Given the description of an element on the screen output the (x, y) to click on. 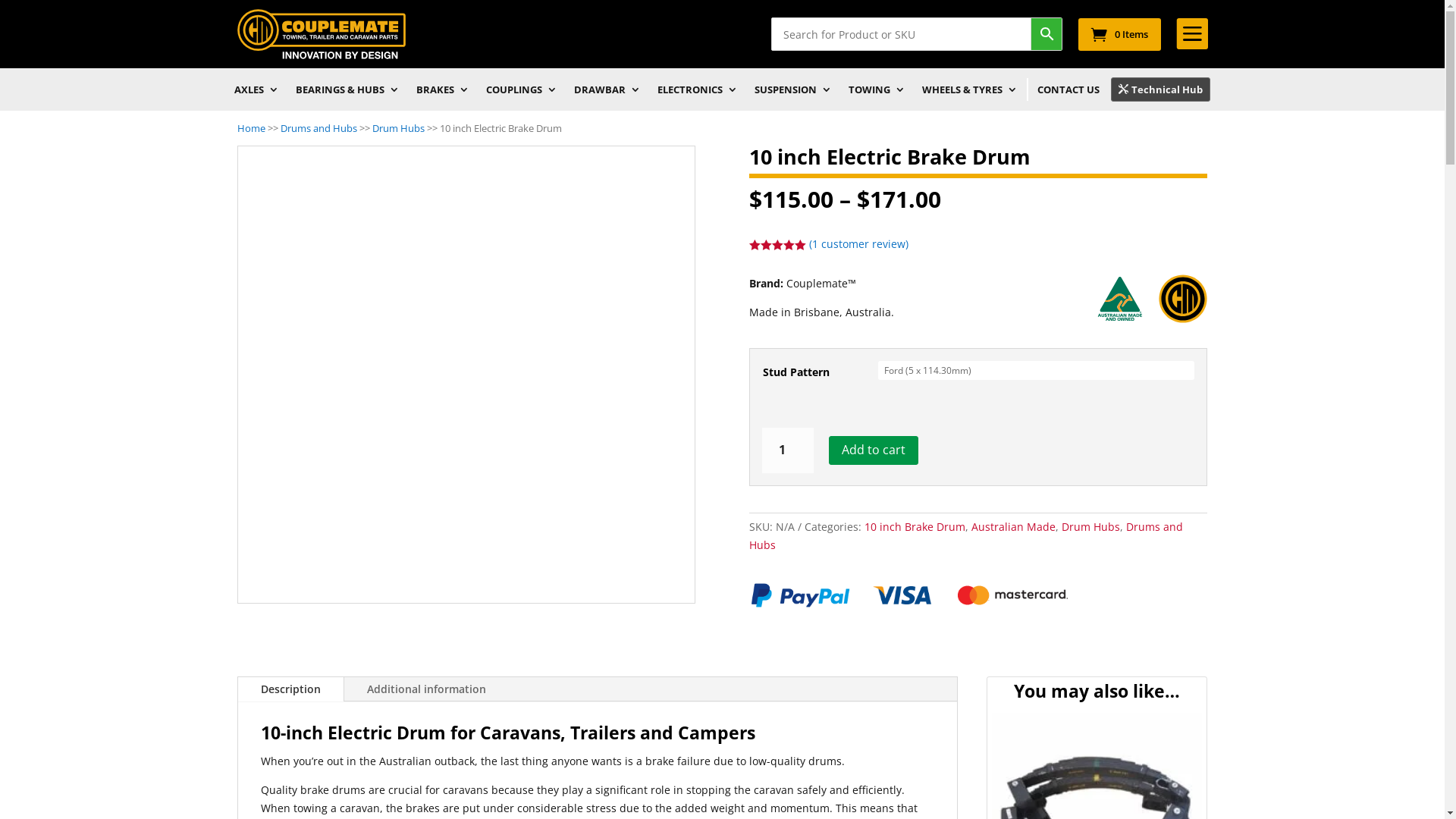
TOWING Element type: text (876, 92)
10 inch Brake Drum Element type: text (914, 526)
Drum Hubs Element type: text (1090, 526)
WHEELS & TYRES Element type: text (969, 92)
DRAWBAR Element type: text (607, 92)
BRAKES Element type: text (442, 92)
(1 customer review) Element type: text (858, 243)
SUSPENSION Element type: text (792, 92)
Drums and Hubs Element type: text (966, 535)
CONTACT US Element type: text (1068, 92)
couplemate-icon-logo-01 Element type: hover (320, 34)
Australian Made Element type: text (1013, 526)
ELECTRONICS Element type: text (697, 92)
Drums and Hubs Element type: text (318, 127)
COUPLINGS Element type: text (521, 92)
Technical Hub Element type: text (1160, 89)
0 Items Element type: text (1118, 33)
BEARINGS & HUBS Element type: text (347, 92)
Additional information Element type: text (426, 689)
Drum Hubs Element type: text (397, 127)
AXLES Element type: text (256, 92)
Add to cart Element type: text (873, 450)
Home Element type: text (250, 127)
payment-gateway-icons-2022 Element type: hover (909, 595)
Description Element type: text (290, 689)
